Given the description of an element on the screen output the (x, y) to click on. 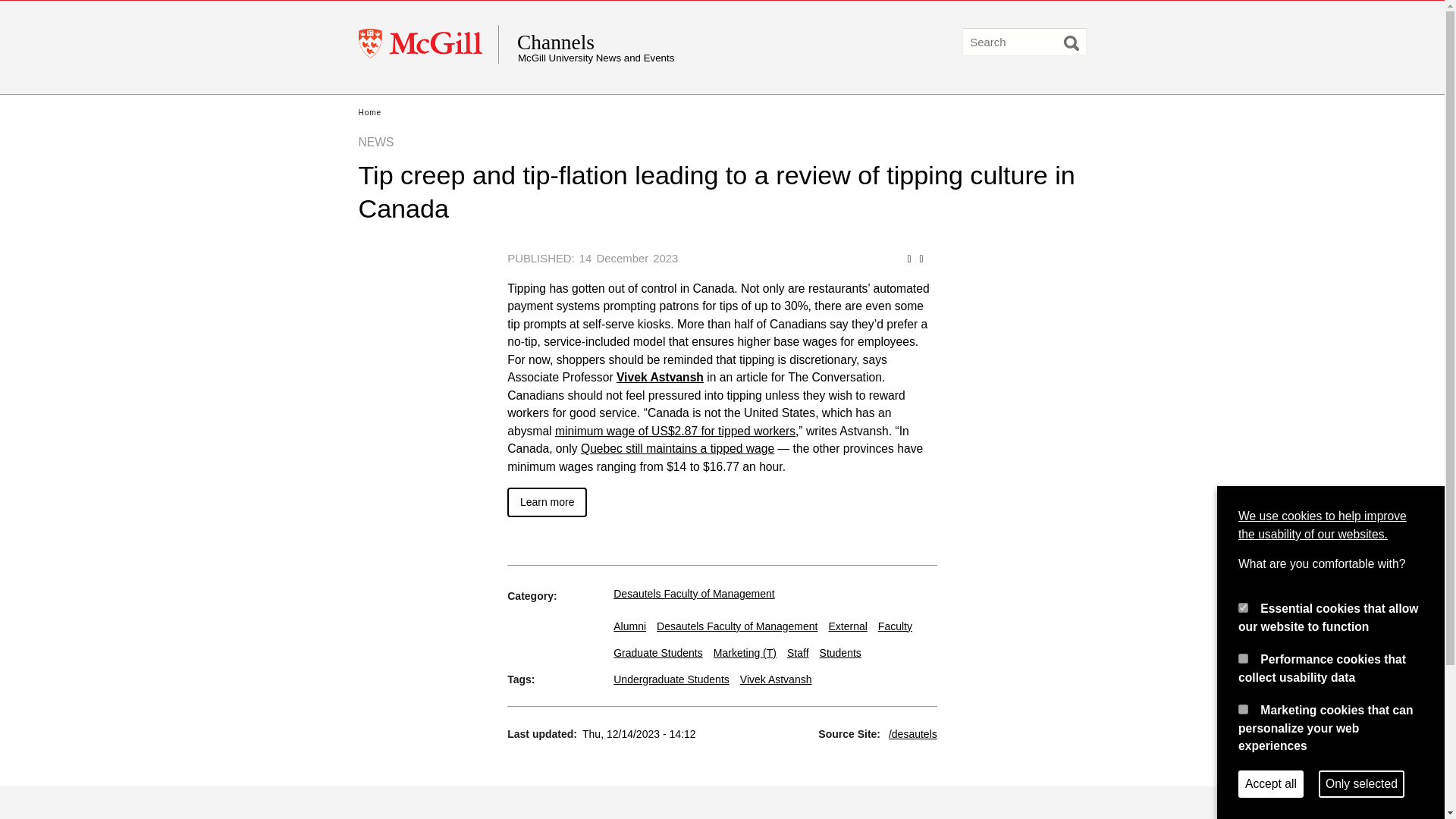
Vivek Astvansh (659, 377)
Alumni (629, 625)
Staff (798, 653)
Faculty (894, 625)
Search (1070, 42)
marketing (1243, 709)
Desautels Faculty of Management (693, 592)
Search (1070, 42)
Desautels Faculty of Management (736, 625)
return to McGill University (427, 44)
